Given the description of an element on the screen output the (x, y) to click on. 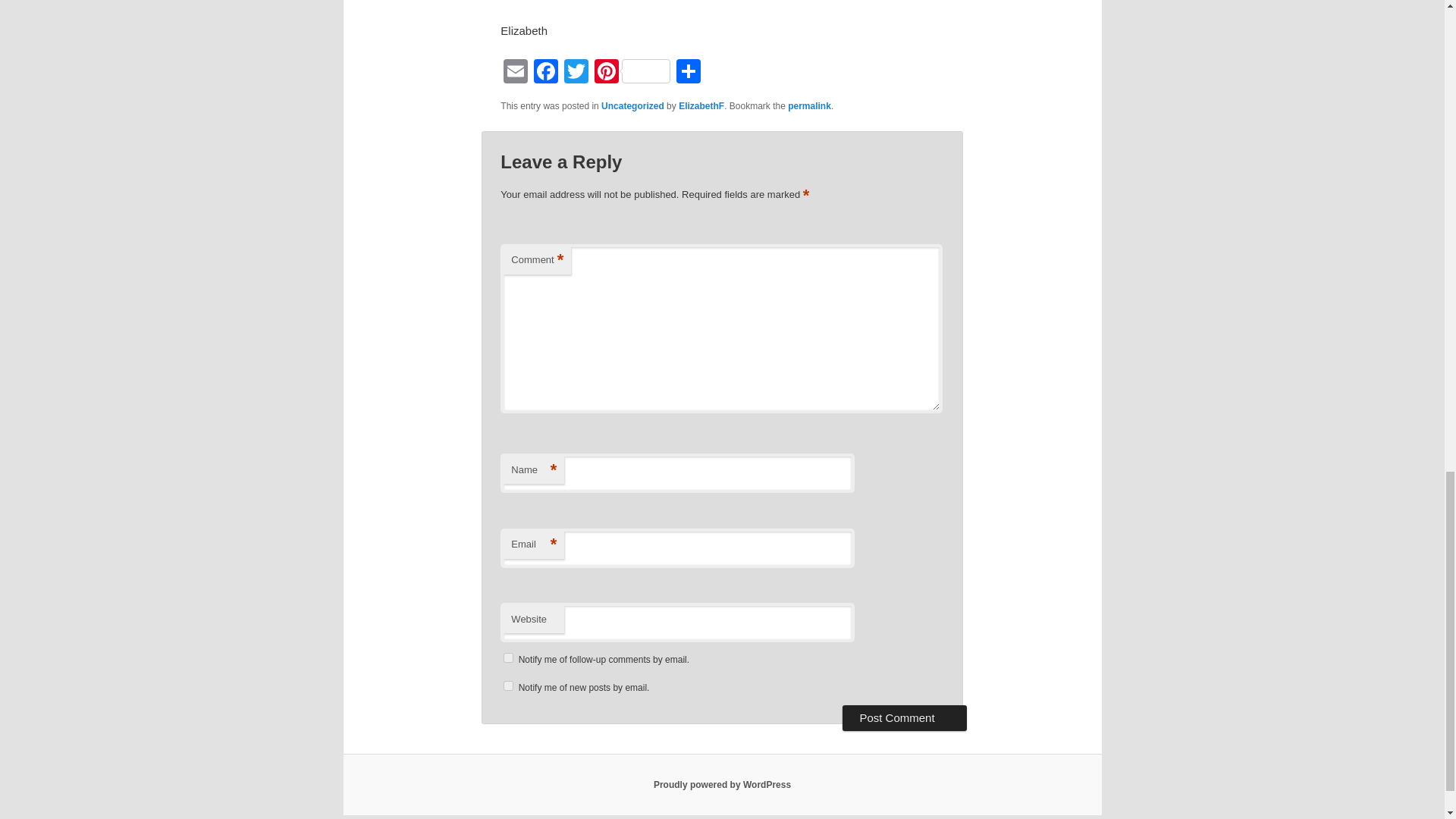
Facebook (545, 72)
Uncategorized (632, 105)
subscribe (508, 685)
permalink (809, 105)
Permalink to Our Lower School Museum (809, 105)
ElizabethF (700, 105)
Proudly powered by WordPress (721, 784)
Share (687, 72)
Twitter (575, 72)
Pinterest (631, 72)
Pinterest (631, 72)
Twitter (575, 72)
Post Comment (904, 718)
Email (515, 72)
subscribe (508, 657)
